Given the description of an element on the screen output the (x, y) to click on. 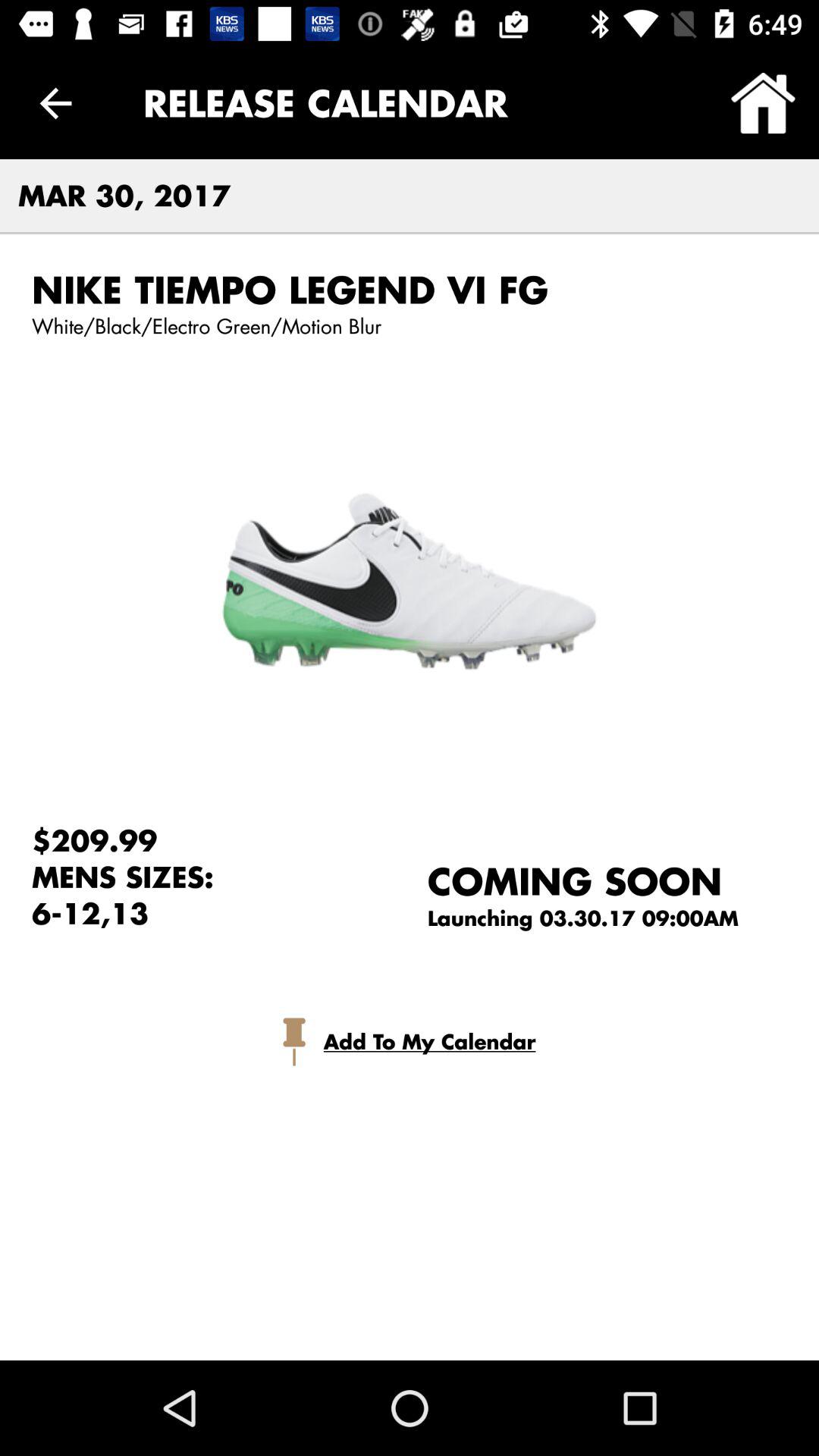
click item to the right of release calendar item (763, 103)
